Given the description of an element on the screen output the (x, y) to click on. 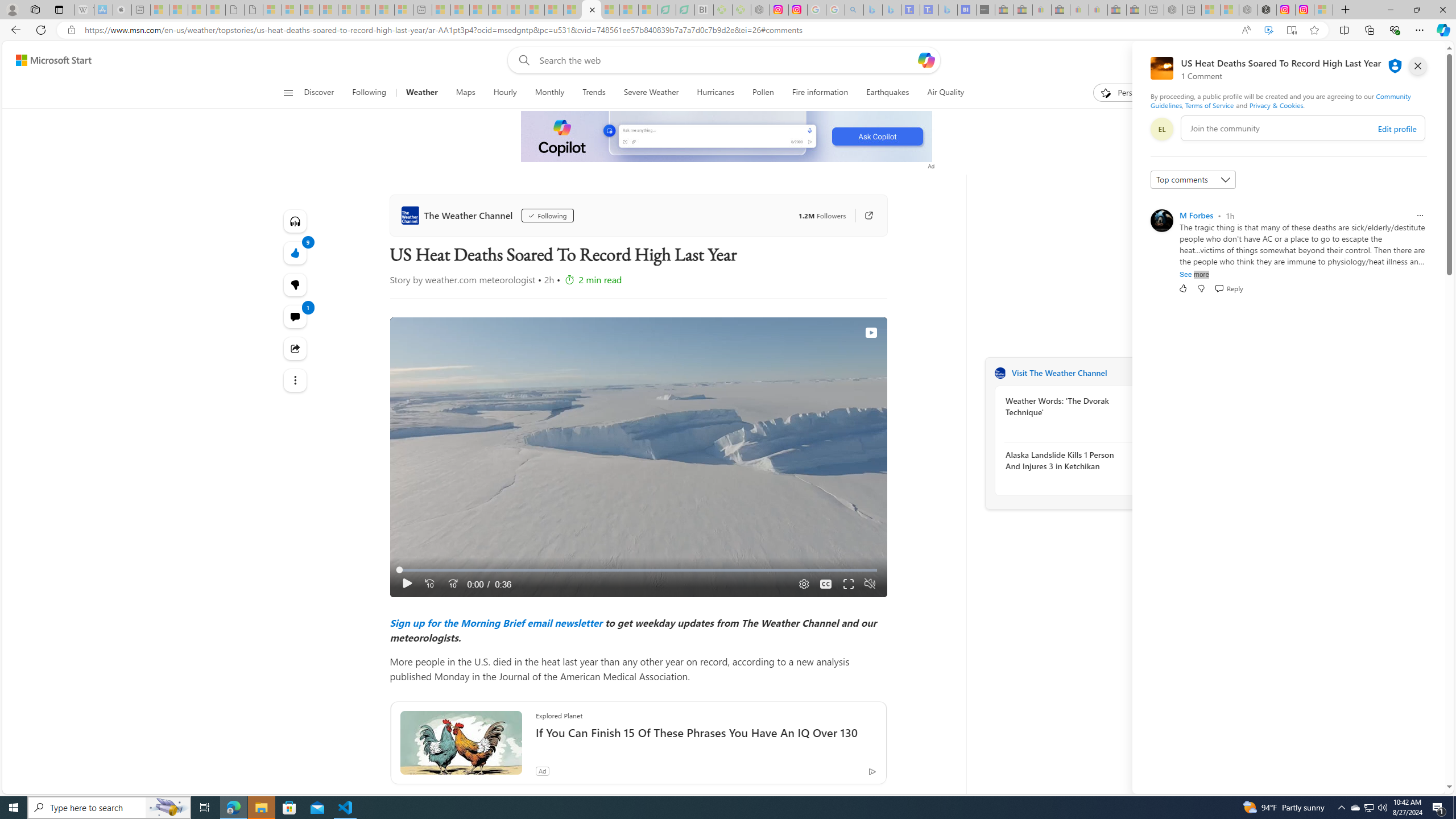
View on Watch View on Watch (844, 332)
Maps (465, 92)
The importance of being lazy - Sleeping (1229, 9)
Captions (825, 583)
Reply Reply Comment (1228, 287)
Profile Picture (1161, 220)
Fire information (820, 92)
Report comment (1419, 215)
Privacy & Cookies (1276, 104)
New tab - Sleeping (1192, 9)
Nordace - Summer Adventures 2024 - Sleeping (1248, 9)
